Given the description of an element on the screen output the (x, y) to click on. 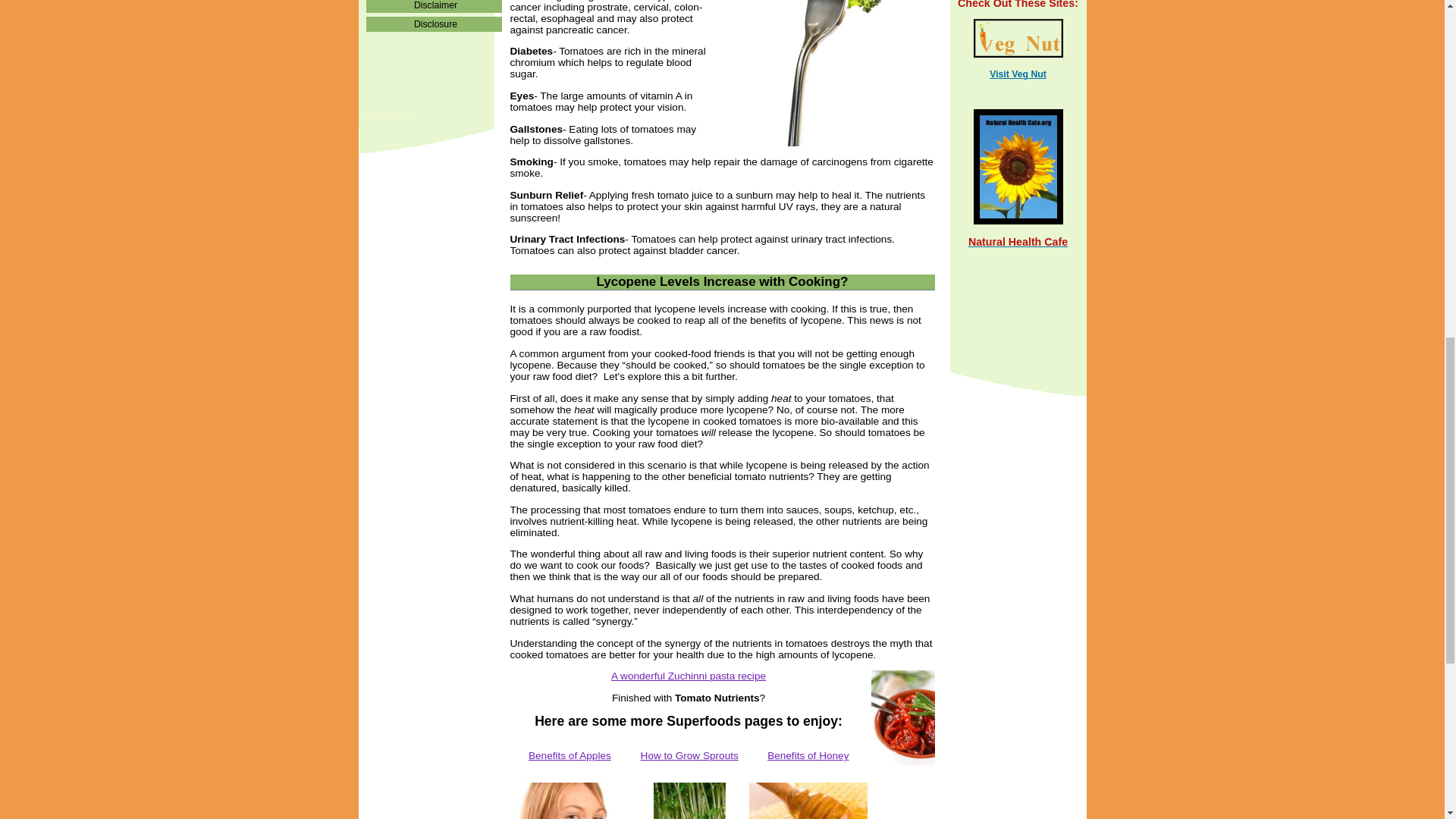
Disclaimer (432, 6)
Disclosure (432, 23)
A wonderful Zuchinni pasta recipe (688, 675)
Benefits of Honey (807, 755)
How to Grow Sprouts (689, 755)
Visit Veg Nut (1018, 73)
Benefits of Apples (569, 755)
Natural Health Cafe (1017, 242)
